Given the description of an element on the screen output the (x, y) to click on. 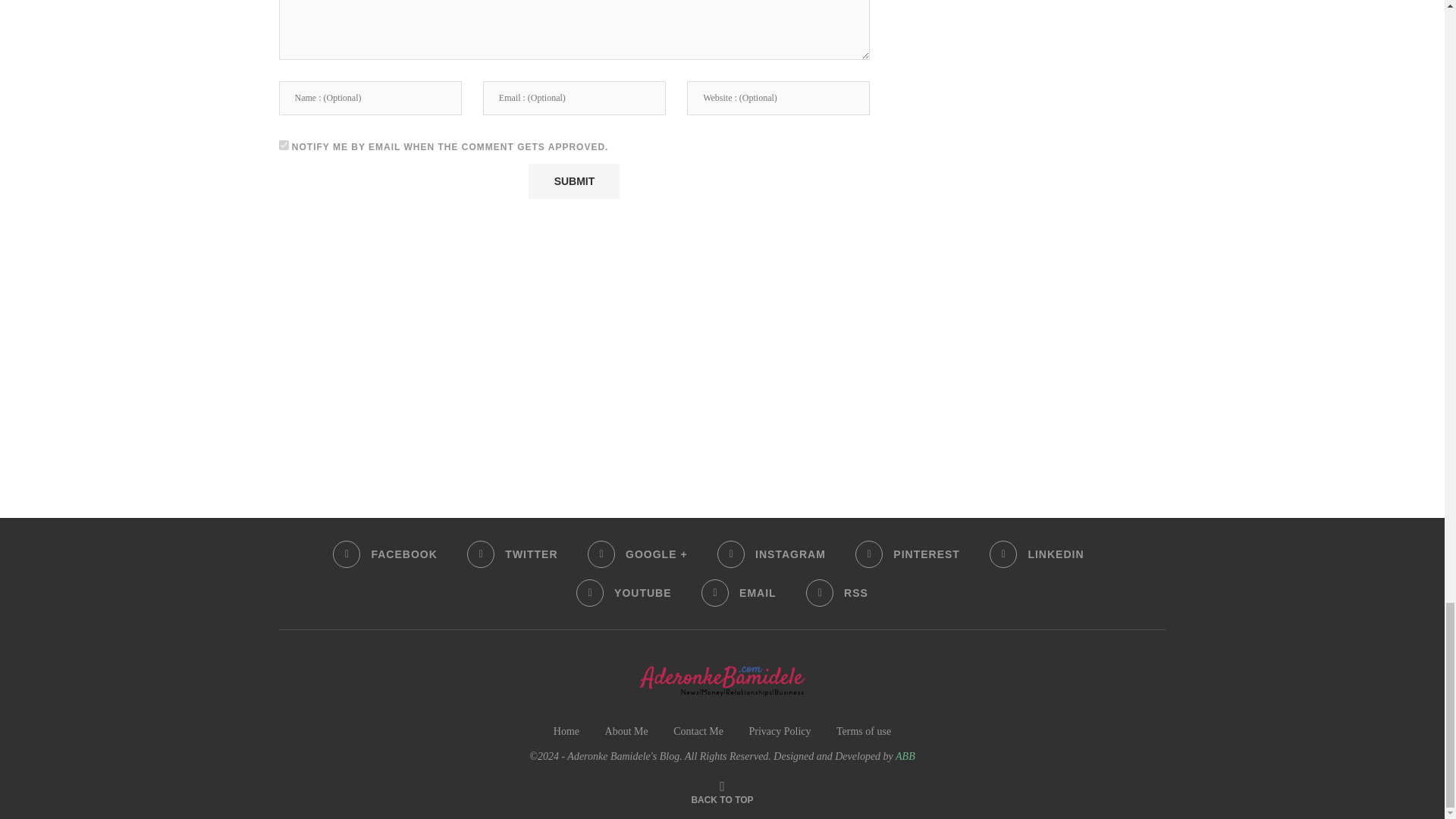
Submit (574, 181)
1 (283, 144)
